Given the description of an element on the screen output the (x, y) to click on. 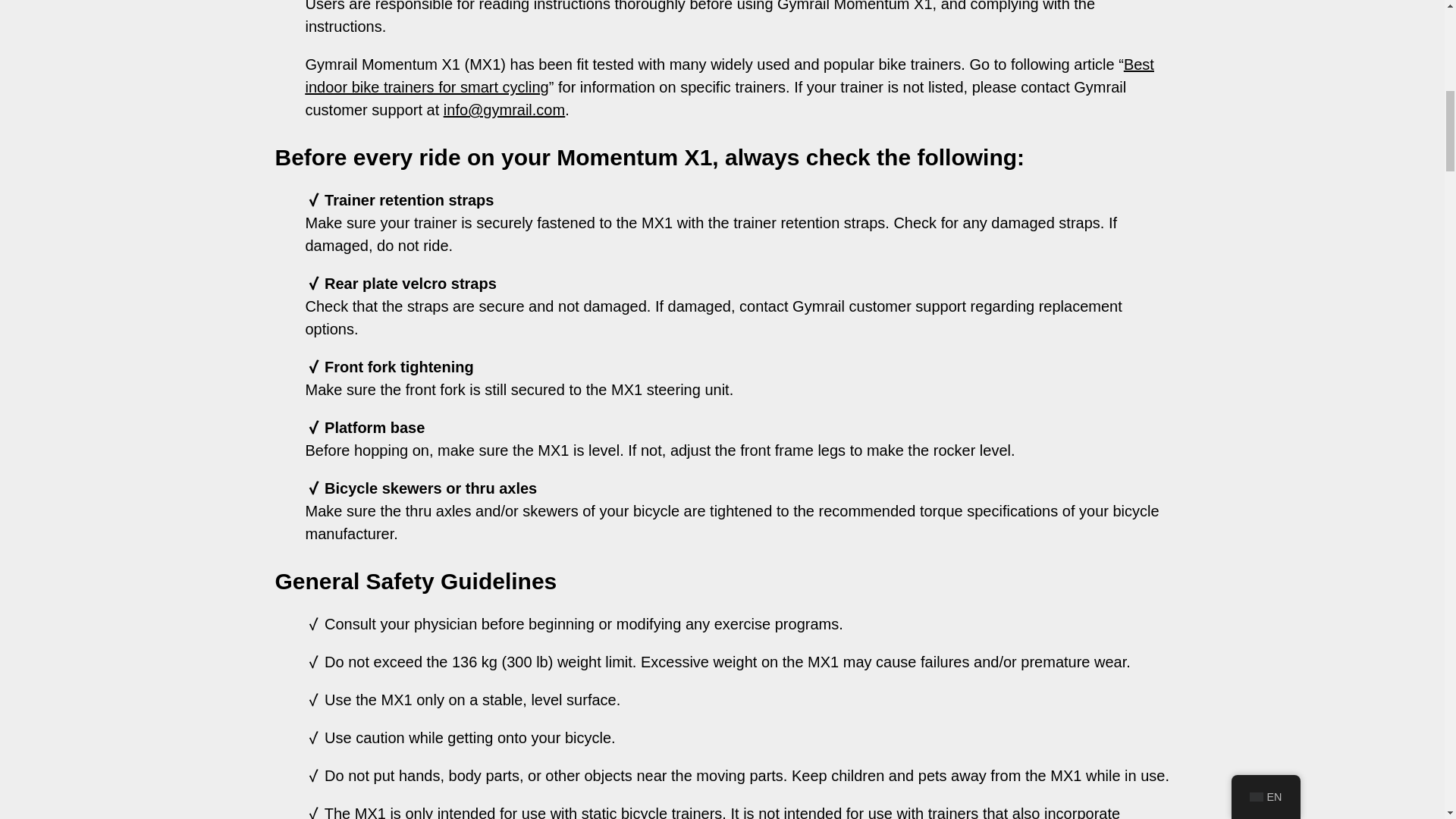
Best indoor bike trainers for smart cycling (728, 75)
